Given the description of an element on the screen output the (x, y) to click on. 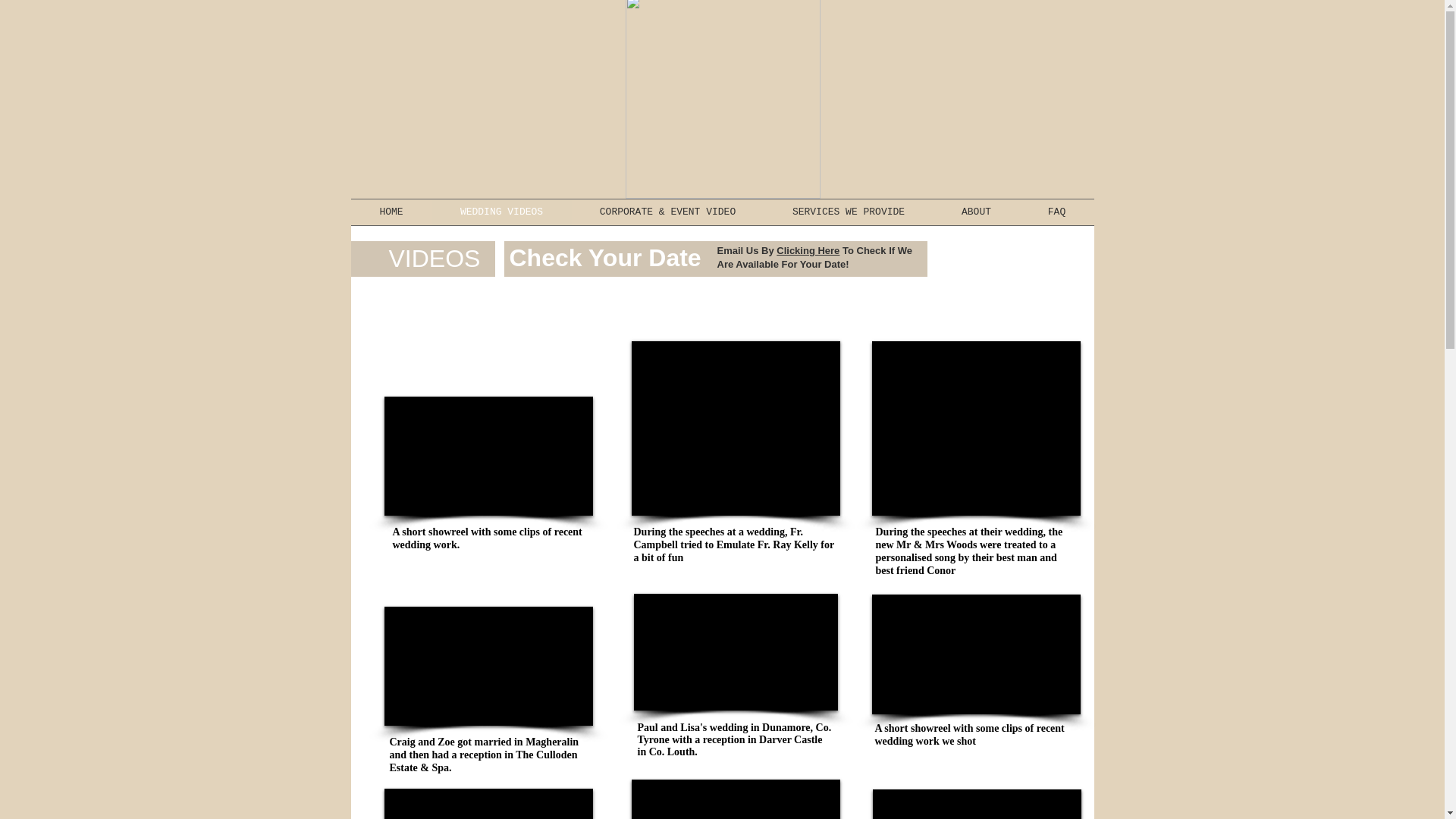
External Vimeo (488, 803)
External Vimeo (976, 654)
CEVideoLogo.jpg (721, 99)
External Vimeo (735, 651)
External Vimeo (488, 665)
HOME (390, 212)
WEDDING VIDEOS (502, 212)
FAQ (1056, 212)
Clicking Here (808, 250)
External Vimeo (488, 455)
